Given the description of an element on the screen output the (x, y) to click on. 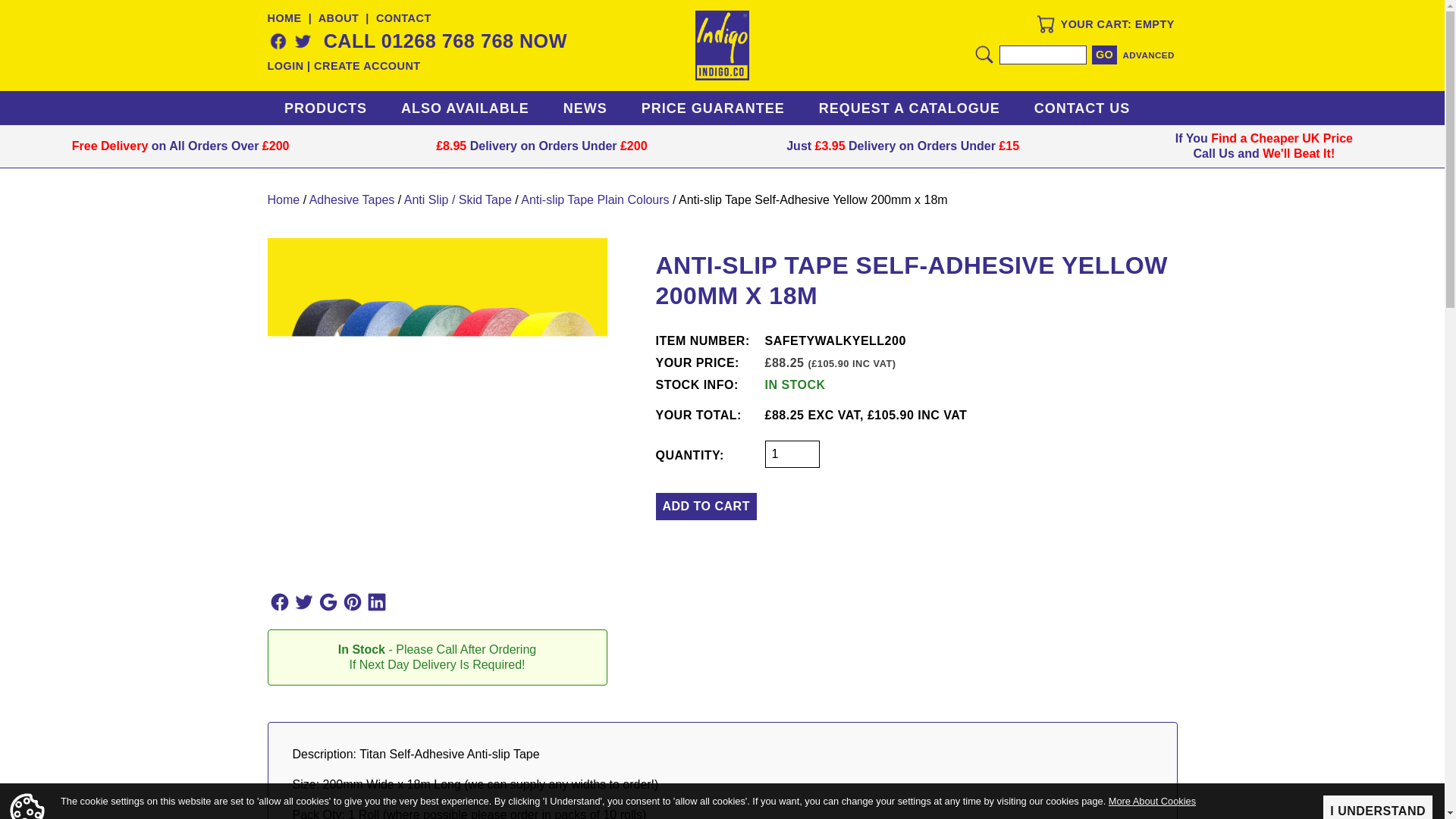
Anti-slip Tape Plain Colours (594, 199)
Anti-slip Tape Plain Colours (594, 199)
HOME (283, 18)
Advanced Search (1147, 54)
FACEBOOK (277, 41)
Home (721, 45)
Follow Us (303, 601)
Follow Us (376, 601)
ABOUT (338, 18)
Search (1042, 54)
